Given the description of an element on the screen output the (x, y) to click on. 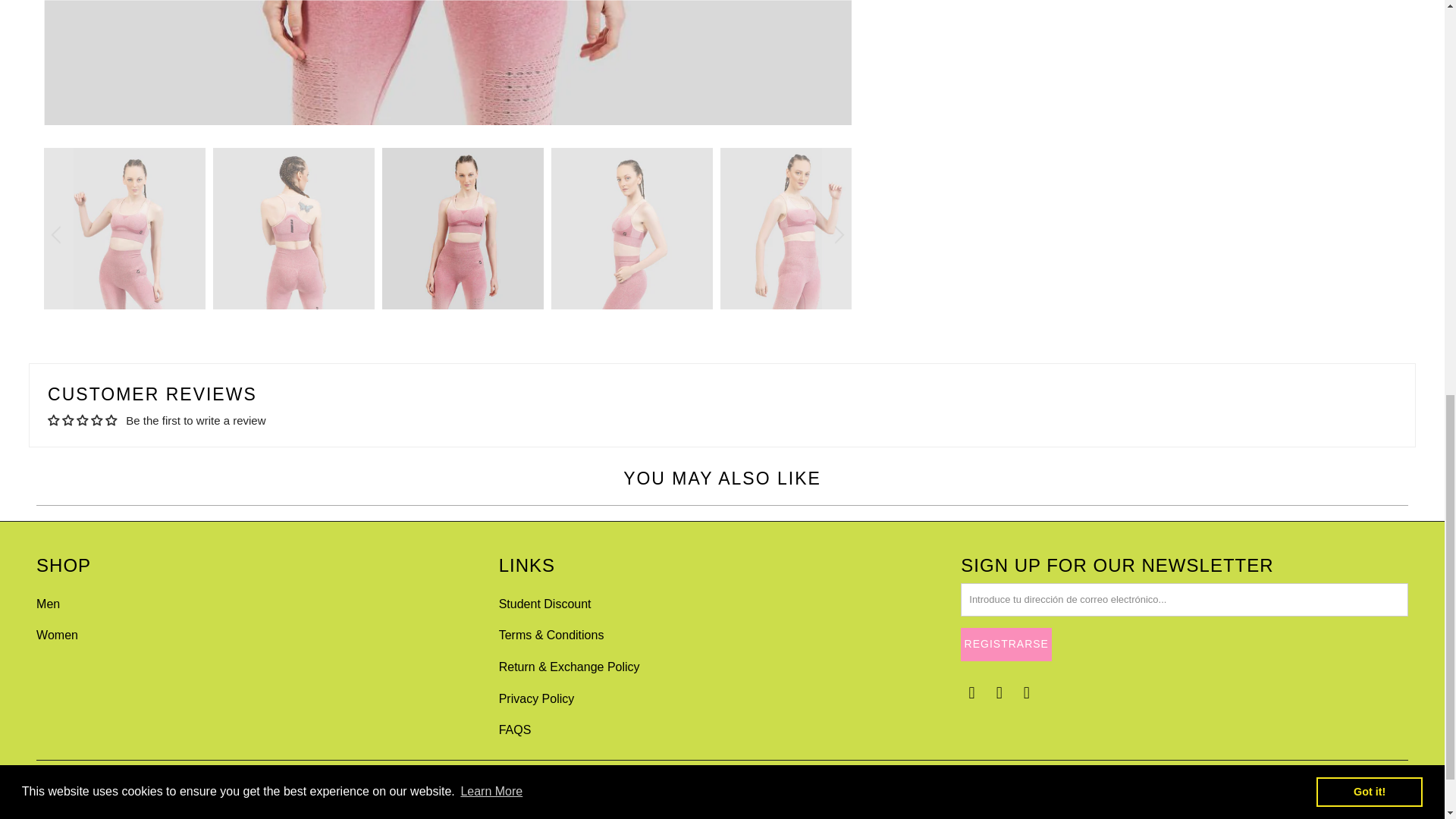
American Express (1070, 786)
Gym Armour  on Facebook (972, 692)
Email Gym Armour  (1027, 692)
Maestro (1191, 786)
Shop Pay (1309, 786)
Gym Armour  on Instagram (999, 692)
Union Pay (1350, 786)
Visa (1389, 786)
Mastercard (1230, 786)
Google Pay (1150, 786)
Apple Pay (1111, 786)
PayPal (1270, 786)
Registrarse (1005, 644)
